Given the description of an element on the screen output the (x, y) to click on. 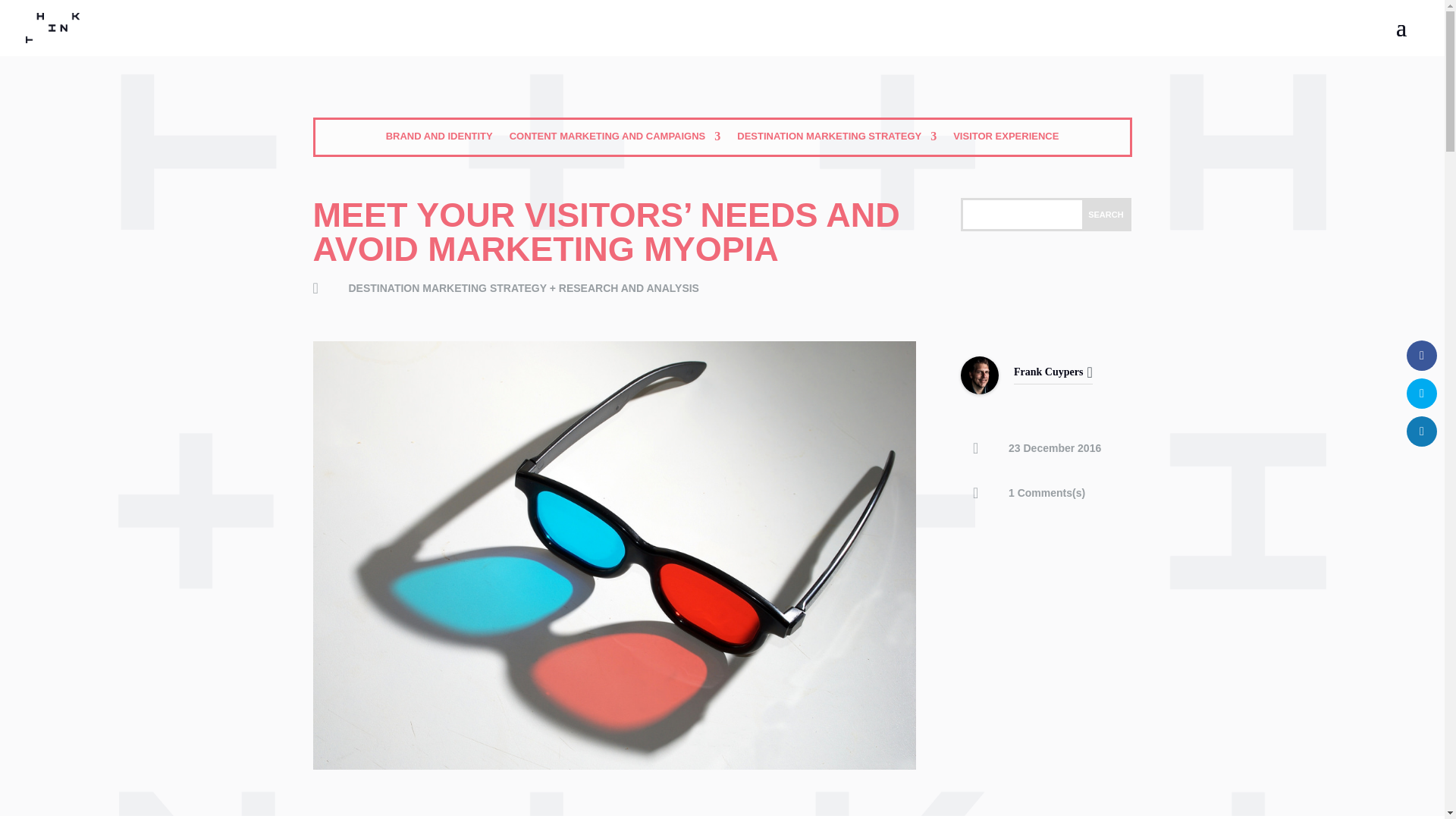
DESTINATION MARKETING STRATEGY (836, 139)
RESEARCH AND ANALYSIS (628, 287)
BRAND AND IDENTITY (439, 139)
Search (1105, 214)
Frank Cuypers (979, 390)
CONTENT MARKETING AND CAMPAIGNS (614, 139)
VISITOR EXPERIENCE (1005, 139)
DESTINATION MARKETING STRATEGY (448, 287)
Search (1105, 214)
Frank Cuypers (1048, 371)
Search (1105, 214)
